Given the description of an element on the screen output the (x, y) to click on. 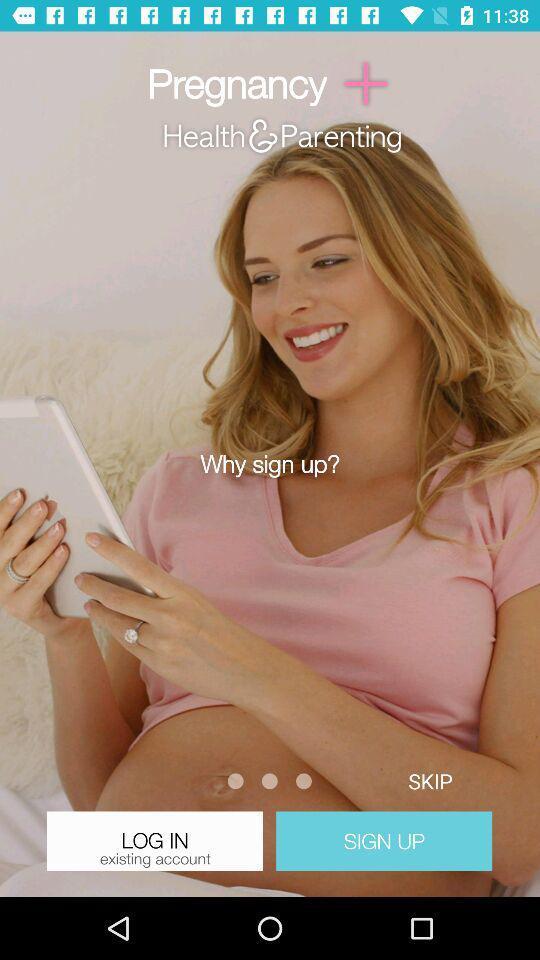
press skip button (430, 780)
